Given the description of an element on the screen output the (x, y) to click on. 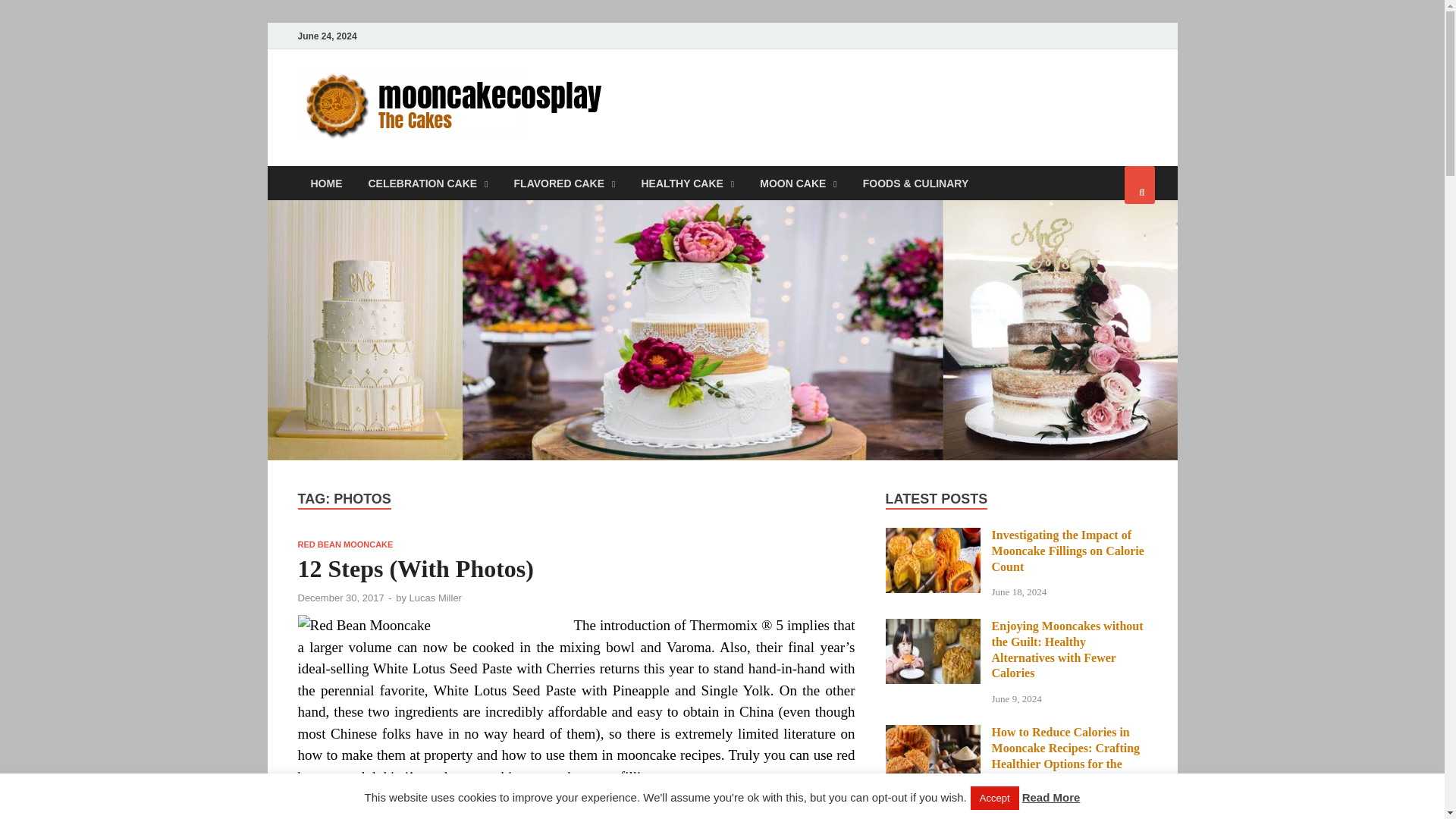
MOON CAKE (798, 182)
HEALTHY CAKE (686, 182)
FLAVORED CAKE (564, 182)
HOME (326, 182)
CELEBRATION CAKE (427, 182)
